Given the description of an element on the screen output the (x, y) to click on. 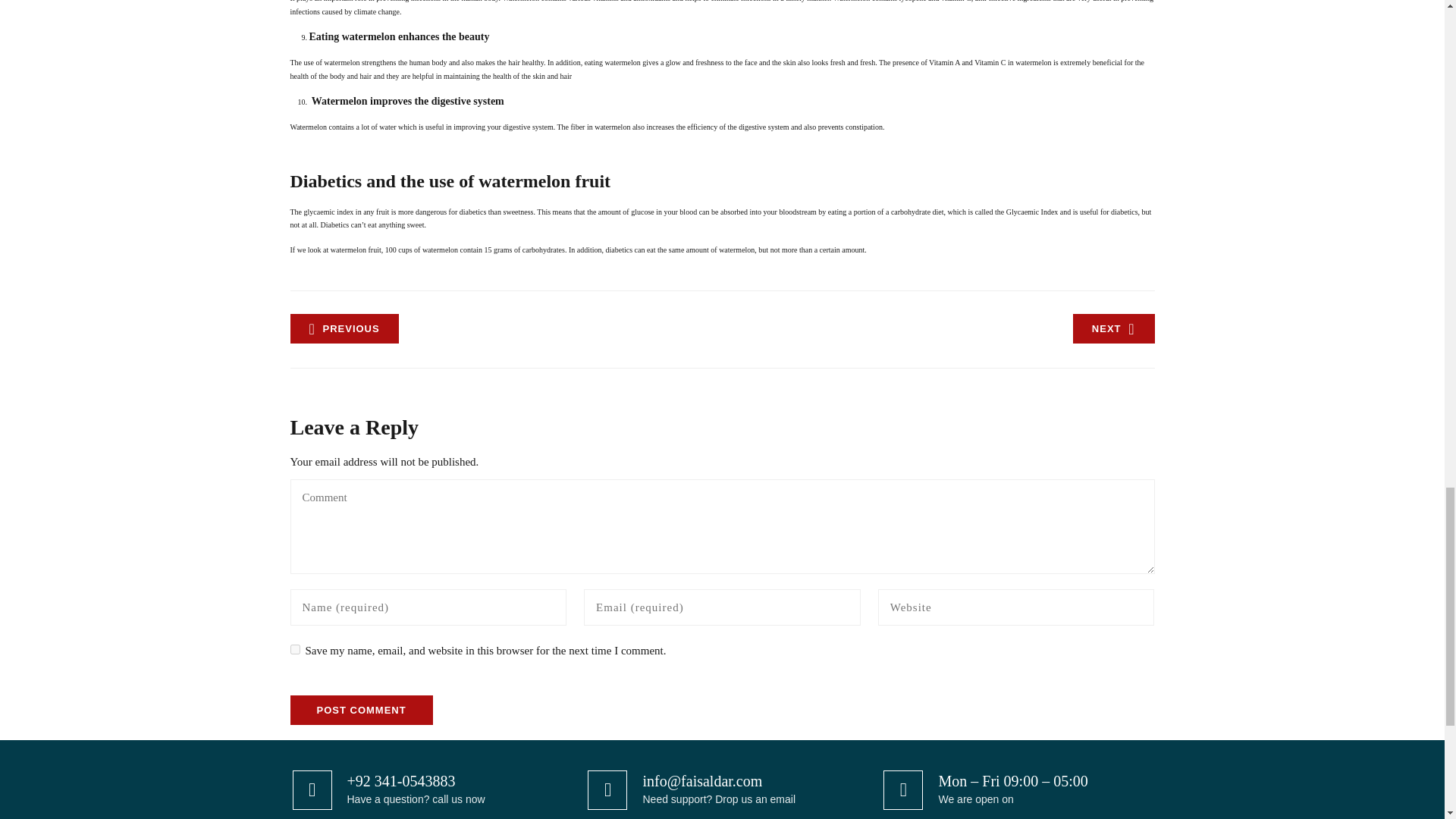
NEXT (1113, 328)
Dehydration Effects on Body (343, 328)
PREVIOUS (343, 328)
Post Comment (360, 709)
Benefits of Exercise (1113, 328)
yes (294, 649)
Post Comment (360, 709)
